Given the description of an element on the screen output the (x, y) to click on. 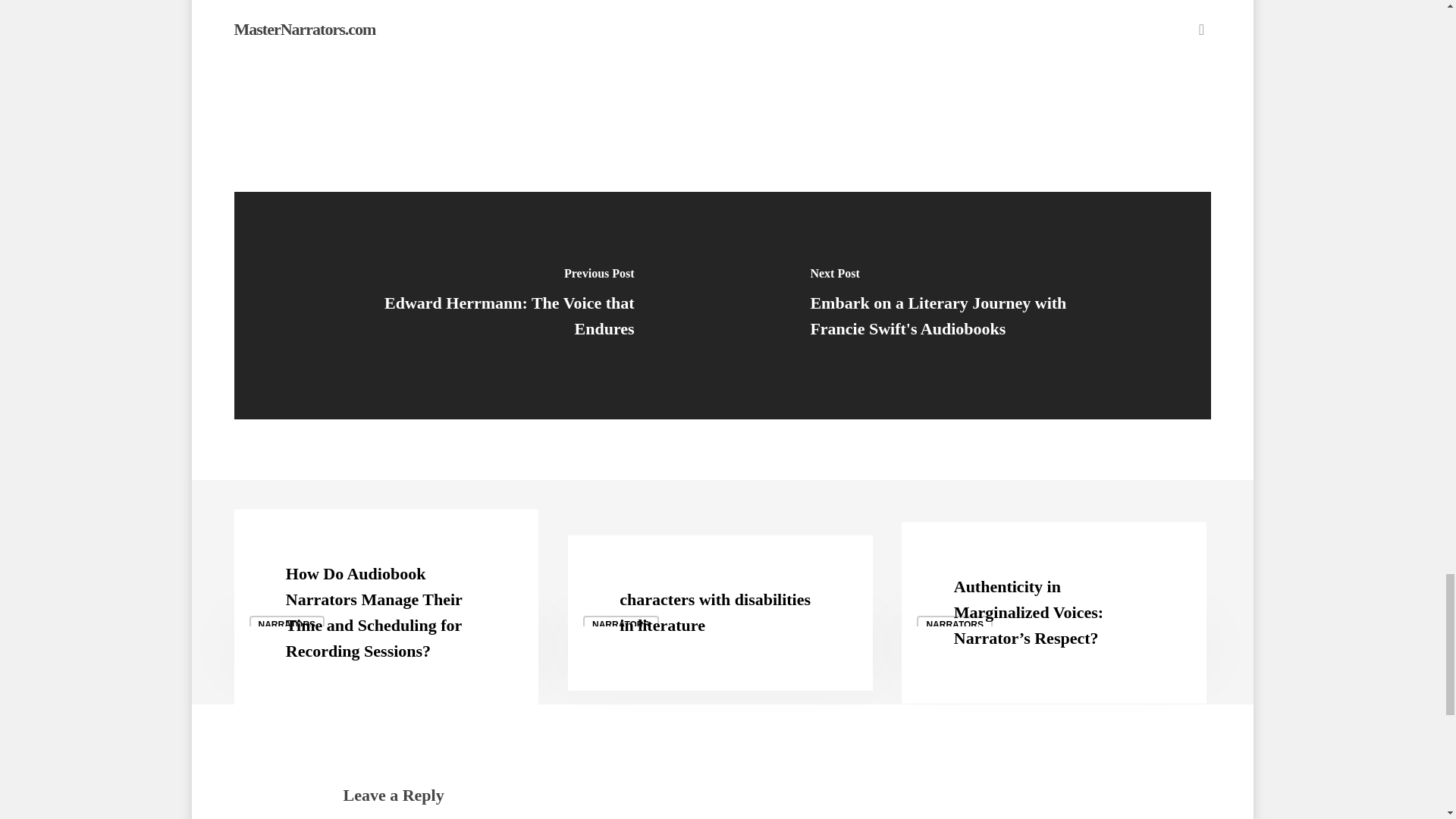
NARRATORS (954, 624)
NARRATORS (621, 624)
NARRATORS (286, 624)
